Given the description of an element on the screen output the (x, y) to click on. 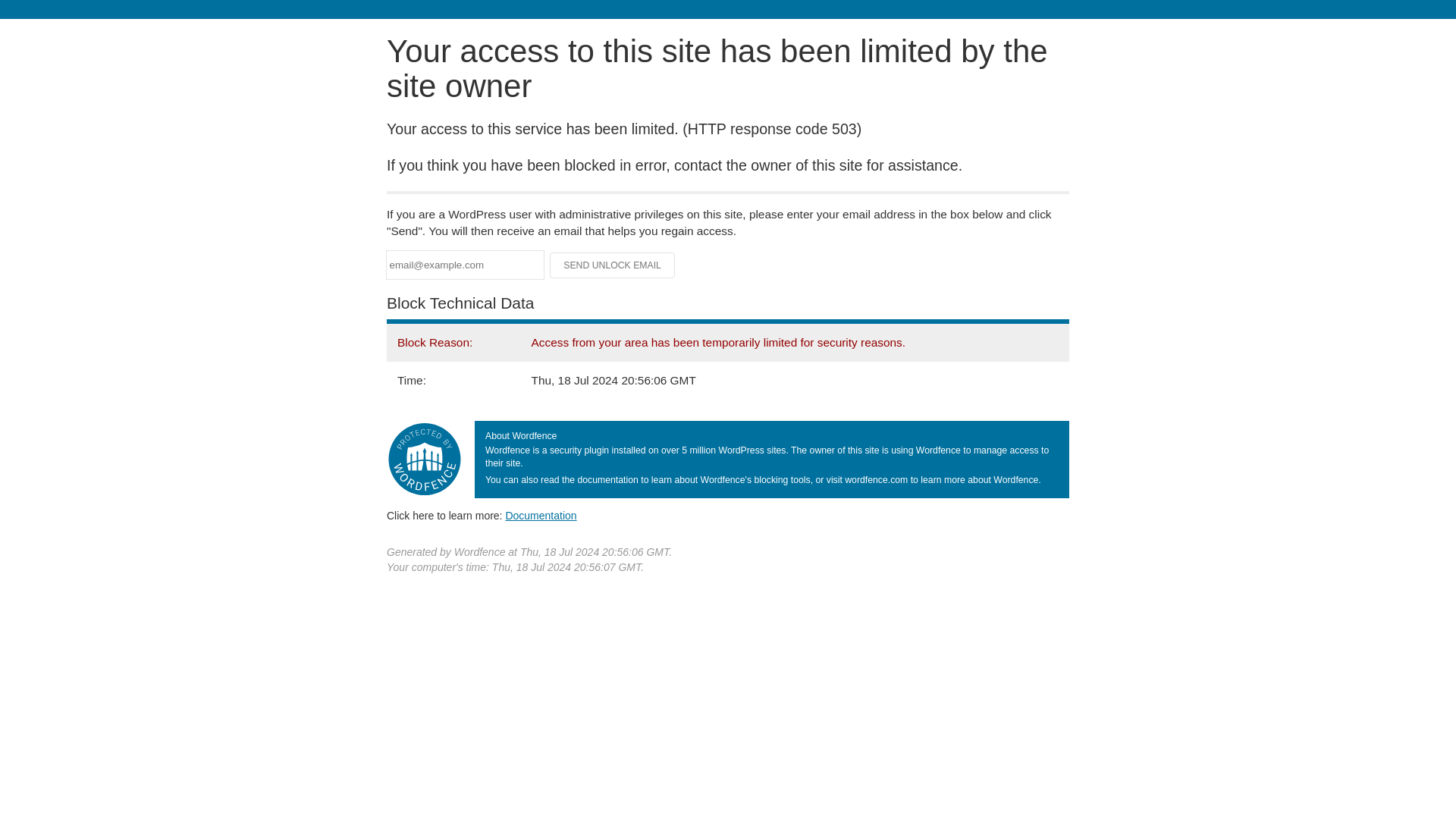
Send Unlock Email (612, 265)
Send Unlock Email (612, 265)
Documentation (540, 515)
